Given the description of an element on the screen output the (x, y) to click on. 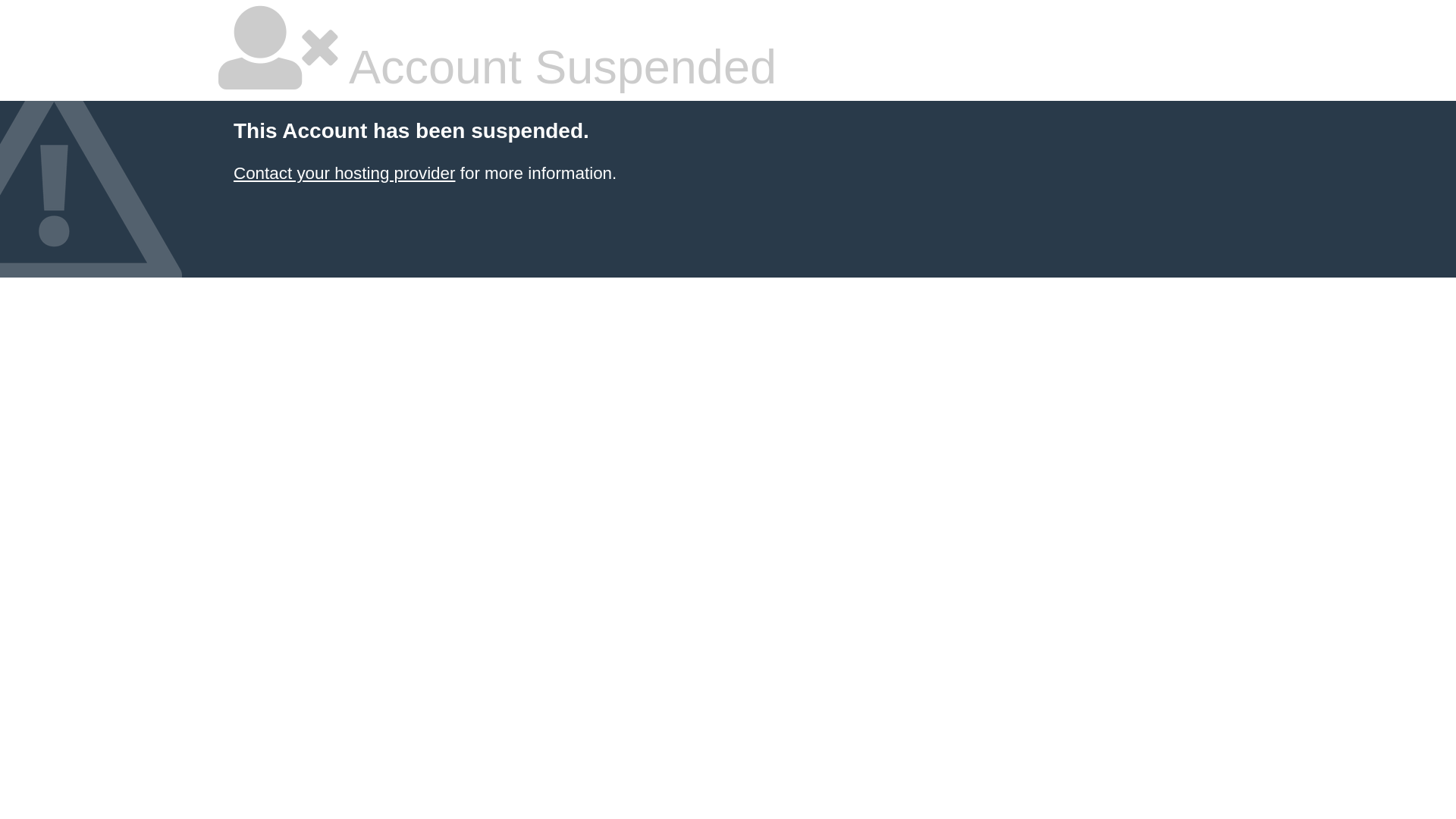
Contact your hosting provider Element type: text (344, 172)
